Given the description of an element on the screen output the (x, y) to click on. 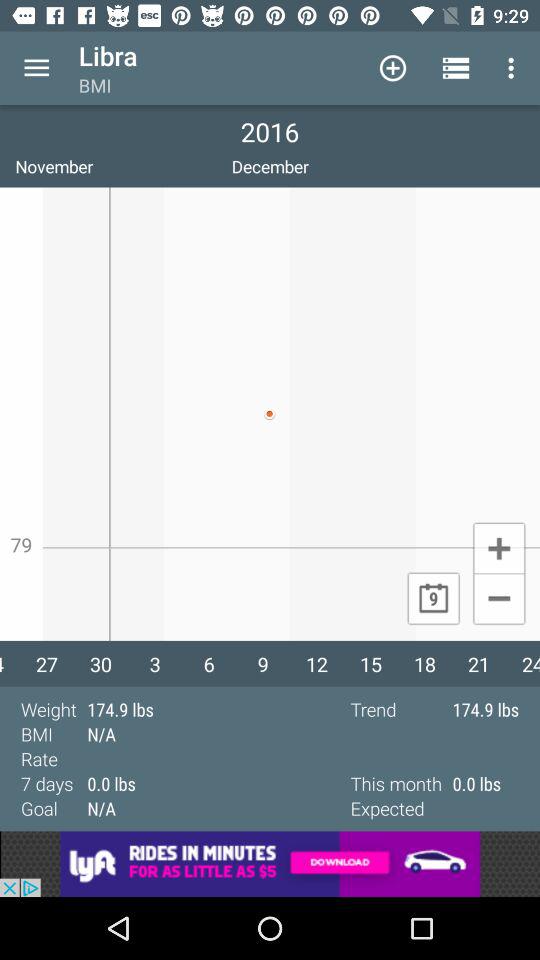
open menu (36, 68)
